Given the description of an element on the screen output the (x, y) to click on. 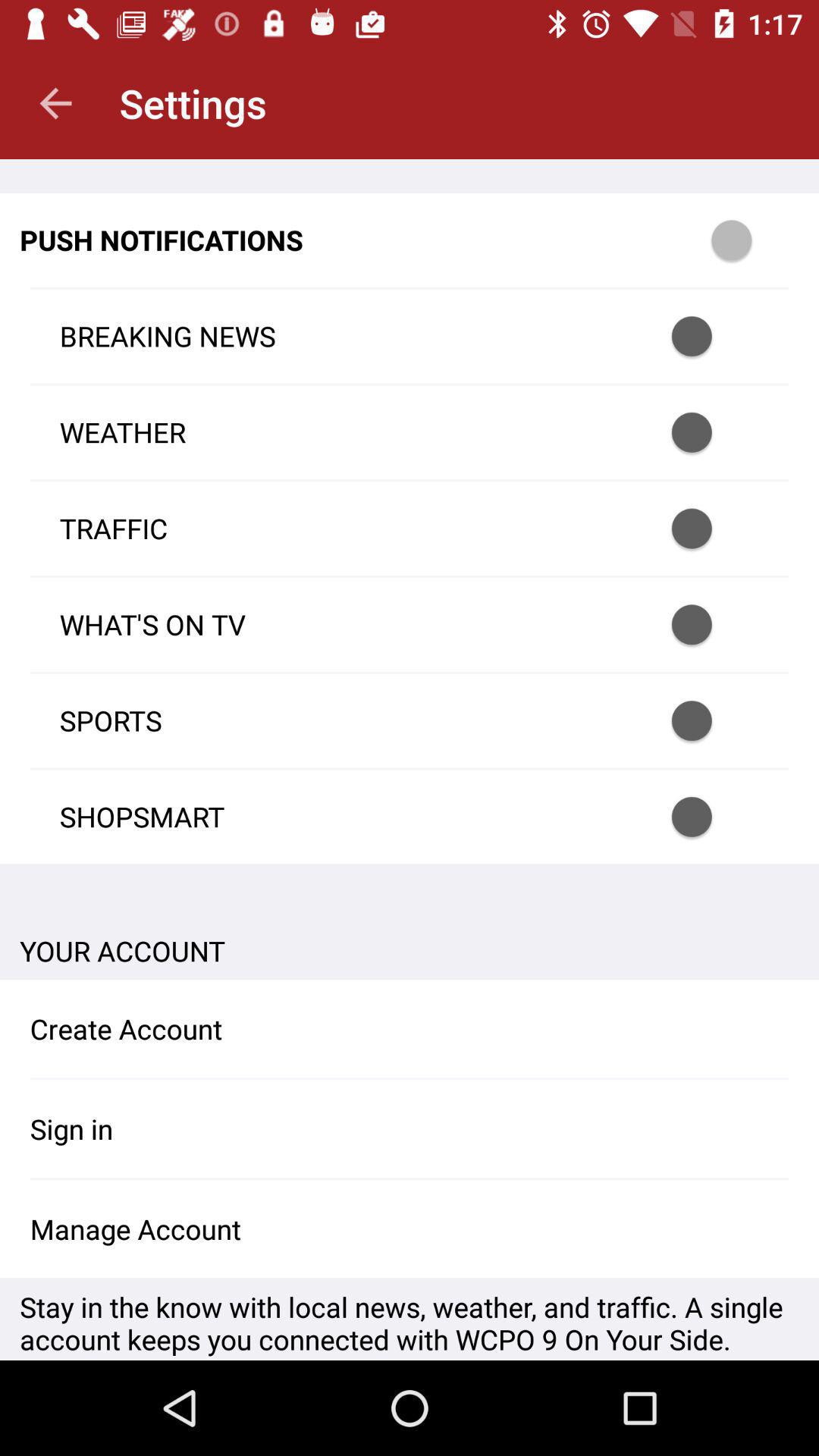
turn on app next to the settings item (55, 103)
